Given the description of an element on the screen output the (x, y) to click on. 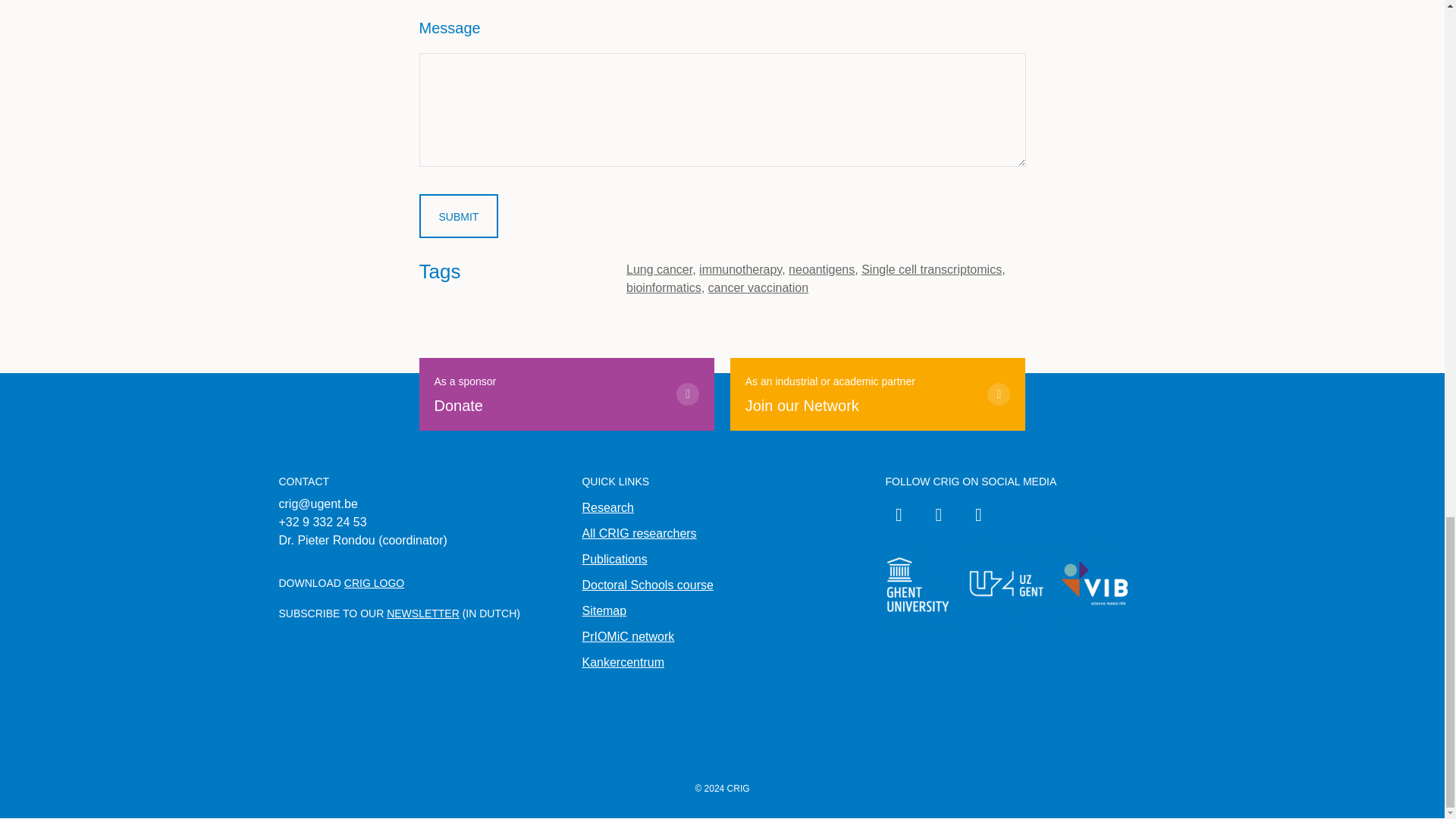
list of all CRIG group leaders and members (637, 533)
neoantigens (821, 269)
immunotherapy (739, 269)
bioinformatics (663, 287)
Submit (458, 216)
publications by CRIG group leaders (613, 558)
CRIG's International Thematic Network funded by UGent (878, 393)
Research (627, 635)
Lung cancer (606, 507)
NEWSLETTER (659, 269)
CRIG Doctoral Schools specialist course on cancer (566, 393)
care and treatment for patients (423, 613)
Single cell transcriptomics (646, 584)
